Given the description of an element on the screen output the (x, y) to click on. 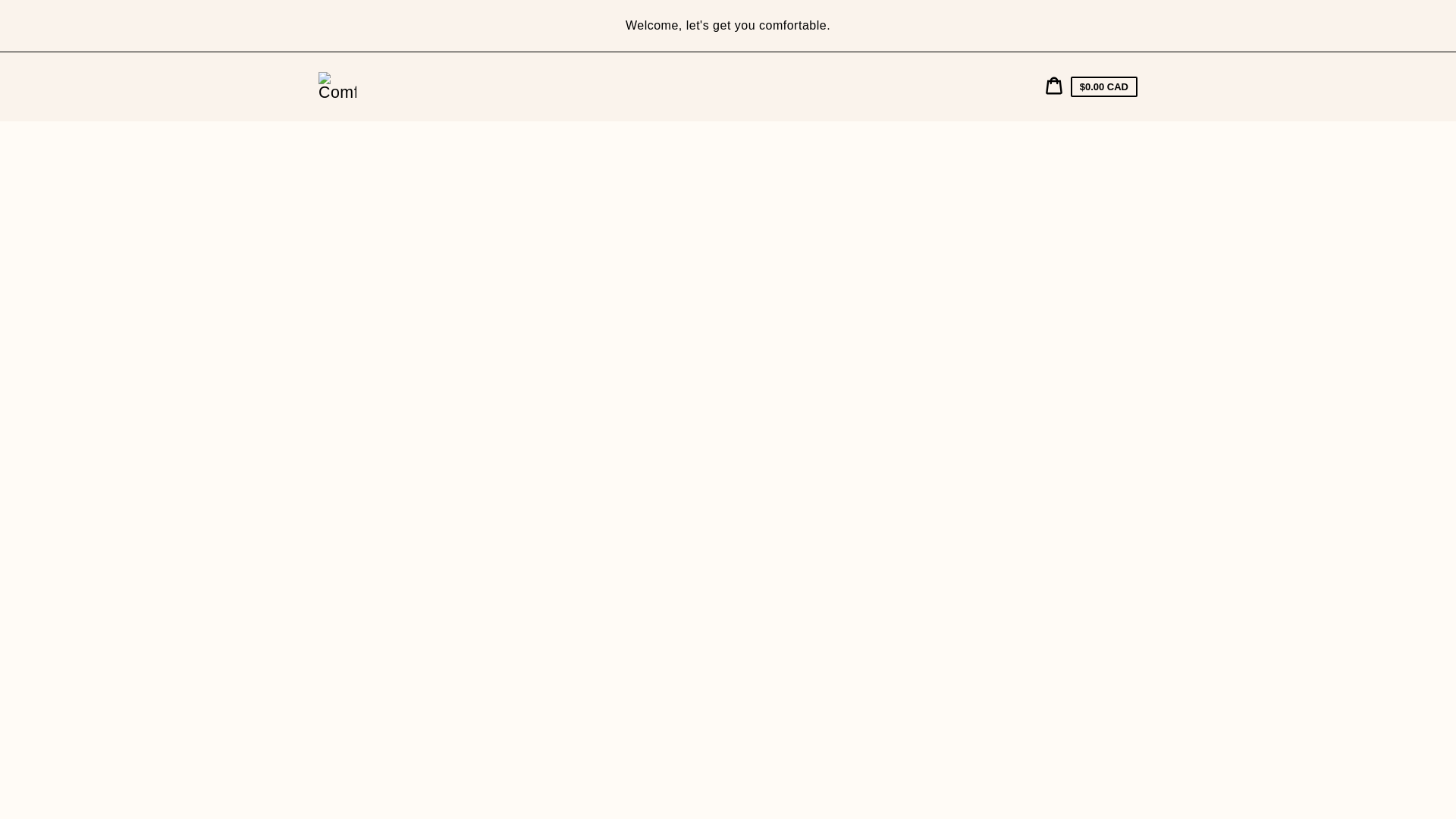
Cart
Cart price
$0.00 CAD Element type: text (1091, 86)
